Given the description of an element on the screen output the (x, y) to click on. 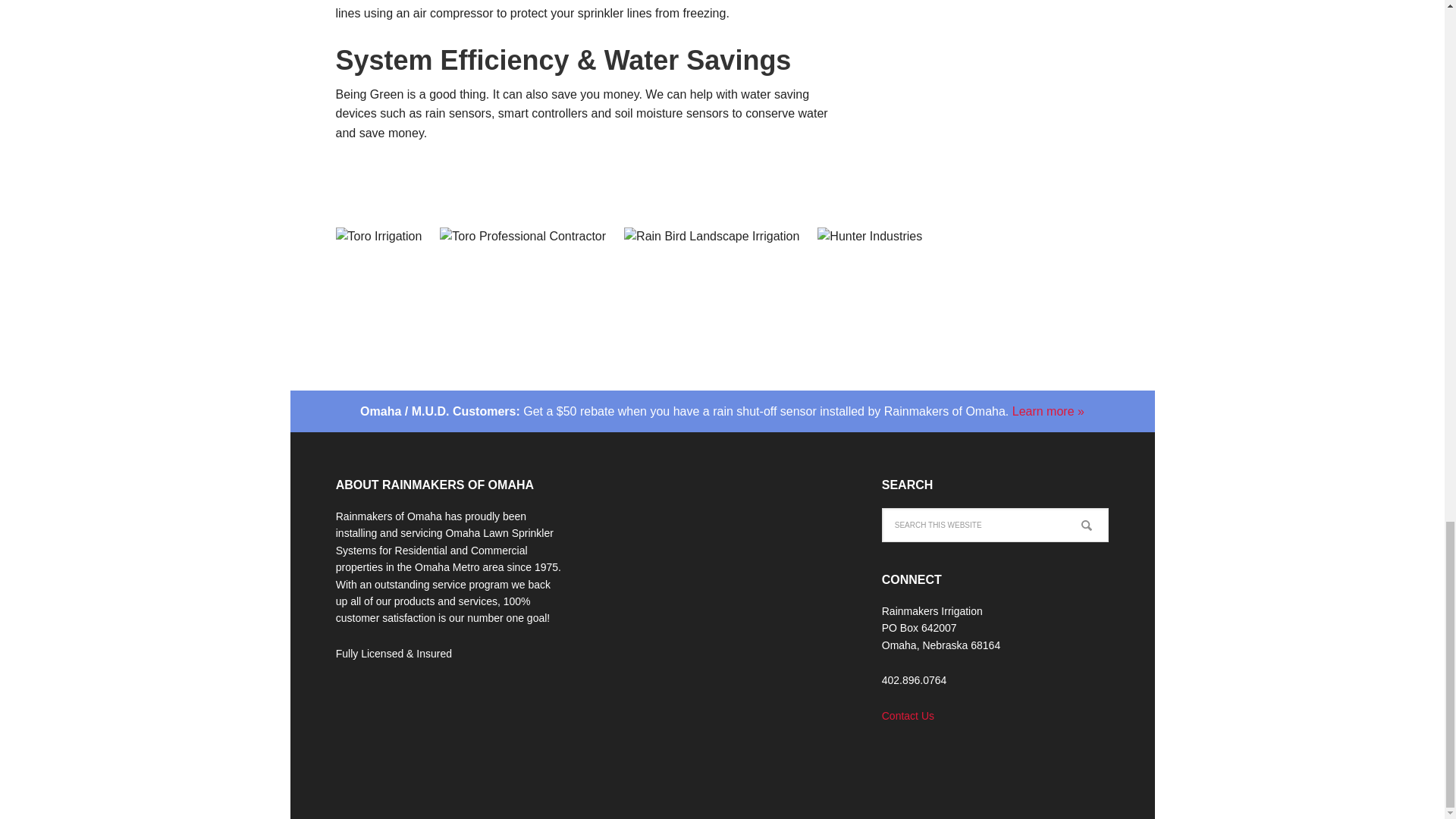
Contact Us (908, 715)
Facebook (904, 757)
